Given the description of an element on the screen output the (x, y) to click on. 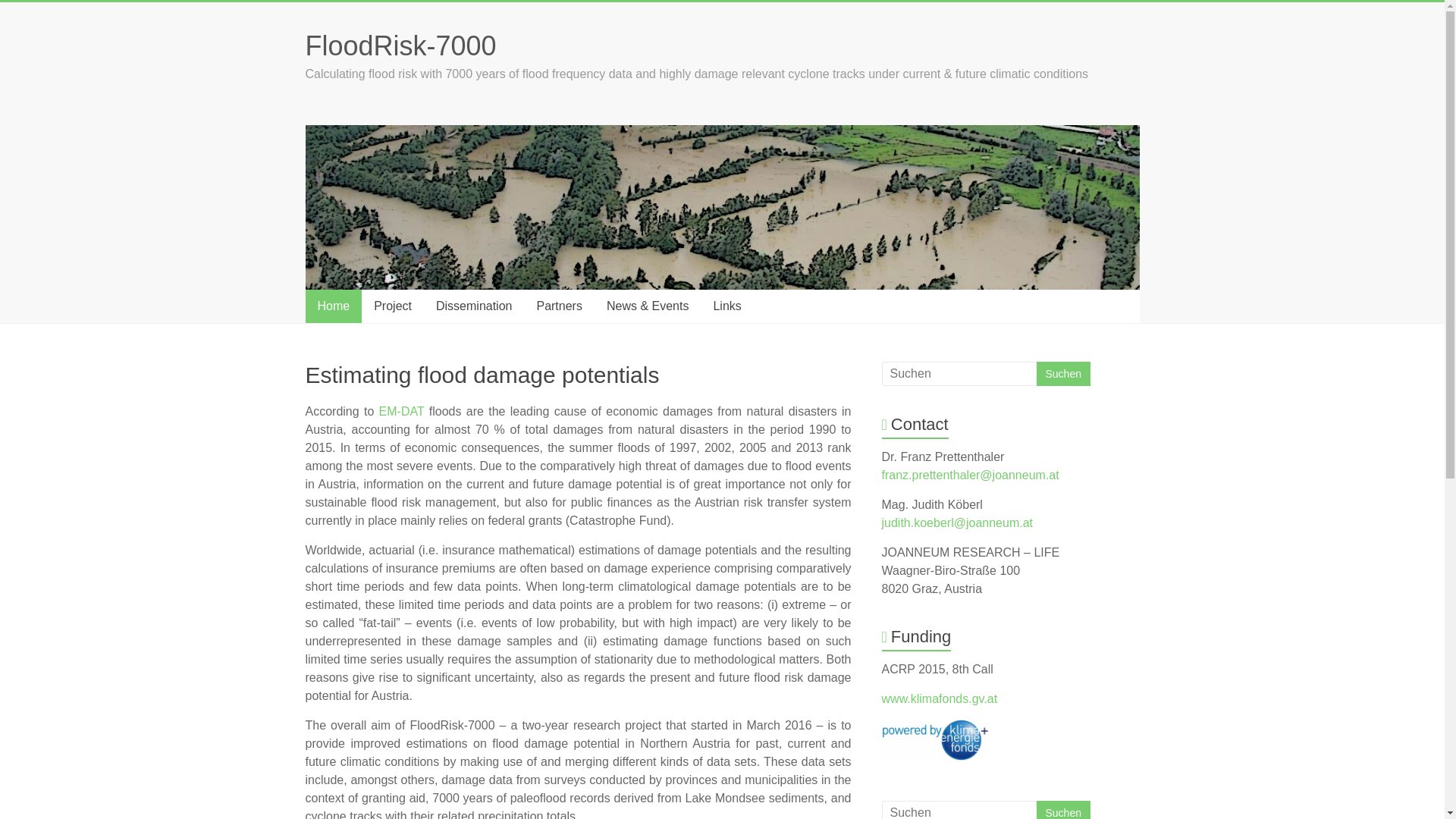
FloodRisk-7000 (400, 45)
Suchen (1062, 373)
Suchen (1062, 809)
Home (332, 305)
Suchen (1062, 373)
Suchen (1062, 809)
EM-DAT (401, 410)
Project (392, 305)
Partners (559, 305)
www.klimafonds.gv.at (939, 698)
Dissemination (473, 305)
FloodRisk-7000 (400, 45)
Links (726, 305)
